Given the description of an element on the screen output the (x, y) to click on. 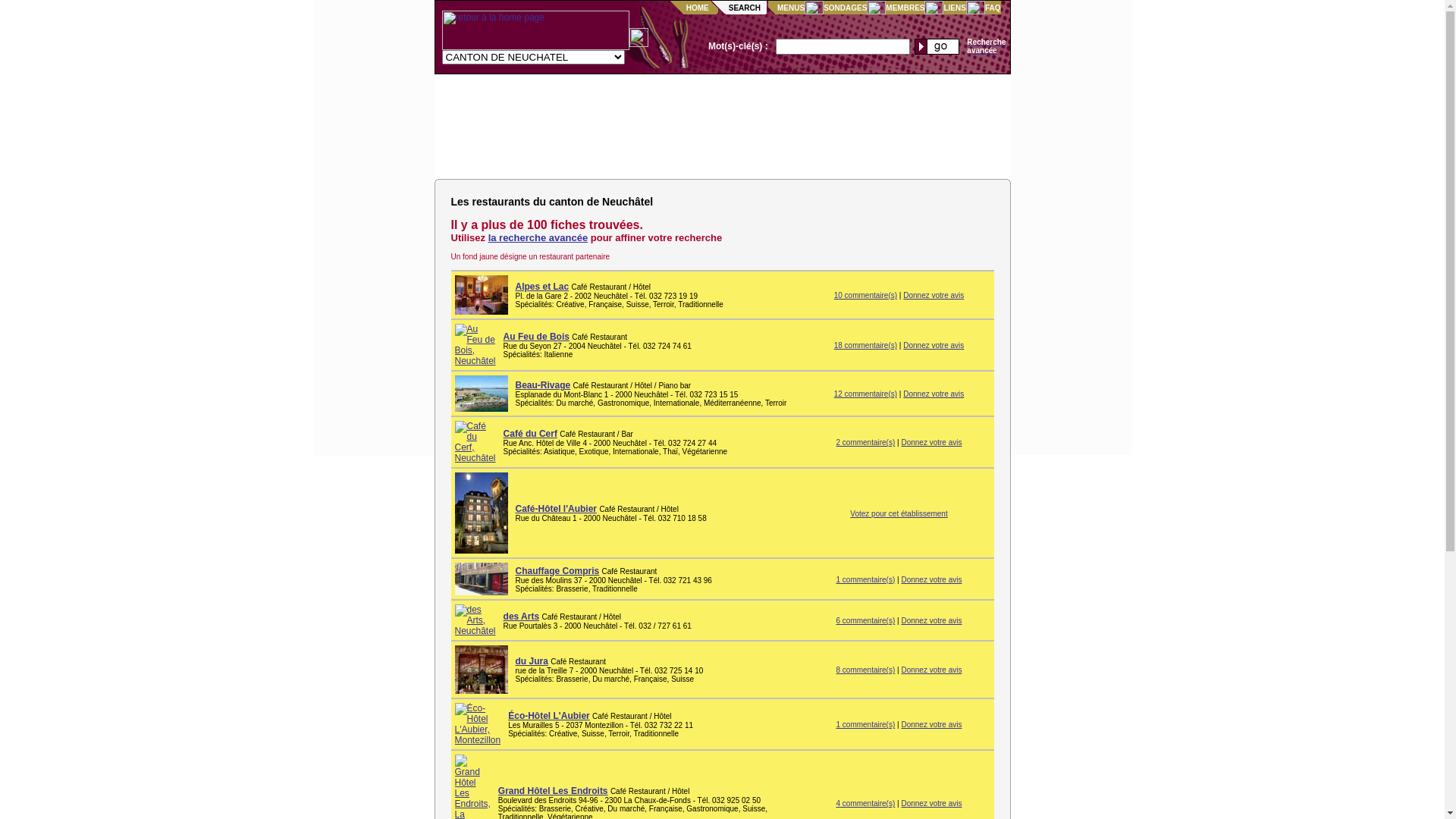
HOME Element type: text (697, 7)
Alpes et Lac Element type: text (542, 286)
Donnez votre avis Element type: text (933, 345)
Donnez votre avis Element type: text (930, 442)
1 commentaire(s) Element type: text (864, 724)
des Arts Element type: text (521, 616)
MENUS Element type: text (790, 7)
Donnez votre avis Element type: text (930, 803)
Beau-Rivage Element type: text (543, 384)
Donnez votre avis Element type: text (933, 295)
6 commentaire(s) Element type: text (864, 620)
Donnez votre avis Element type: text (933, 393)
MEMBRES Element type: text (904, 7)
SEARCH Element type: text (744, 7)
4 commentaire(s) Element type: text (864, 803)
du Jura Element type: text (531, 660)
Donnez votre avis Element type: text (930, 620)
SONDAGES Element type: text (844, 7)
8 commentaire(s) Element type: text (864, 669)
2 commentaire(s) Element type: text (864, 442)
12 commentaire(s) Element type: text (865, 393)
Donnez votre avis Element type: text (930, 579)
10 commentaire(s) Element type: text (865, 295)
LIENS Element type: text (954, 7)
Au Feu de Bois Element type: text (536, 336)
Donnez votre avis Element type: text (930, 724)
Chauffage Compris Element type: text (557, 570)
FAQ Element type: text (993, 7)
1 commentaire(s) Element type: text (864, 579)
18 commentaire(s) Element type: text (865, 345)
Donnez votre avis Element type: text (930, 669)
